Given the description of an element on the screen output the (x, y) to click on. 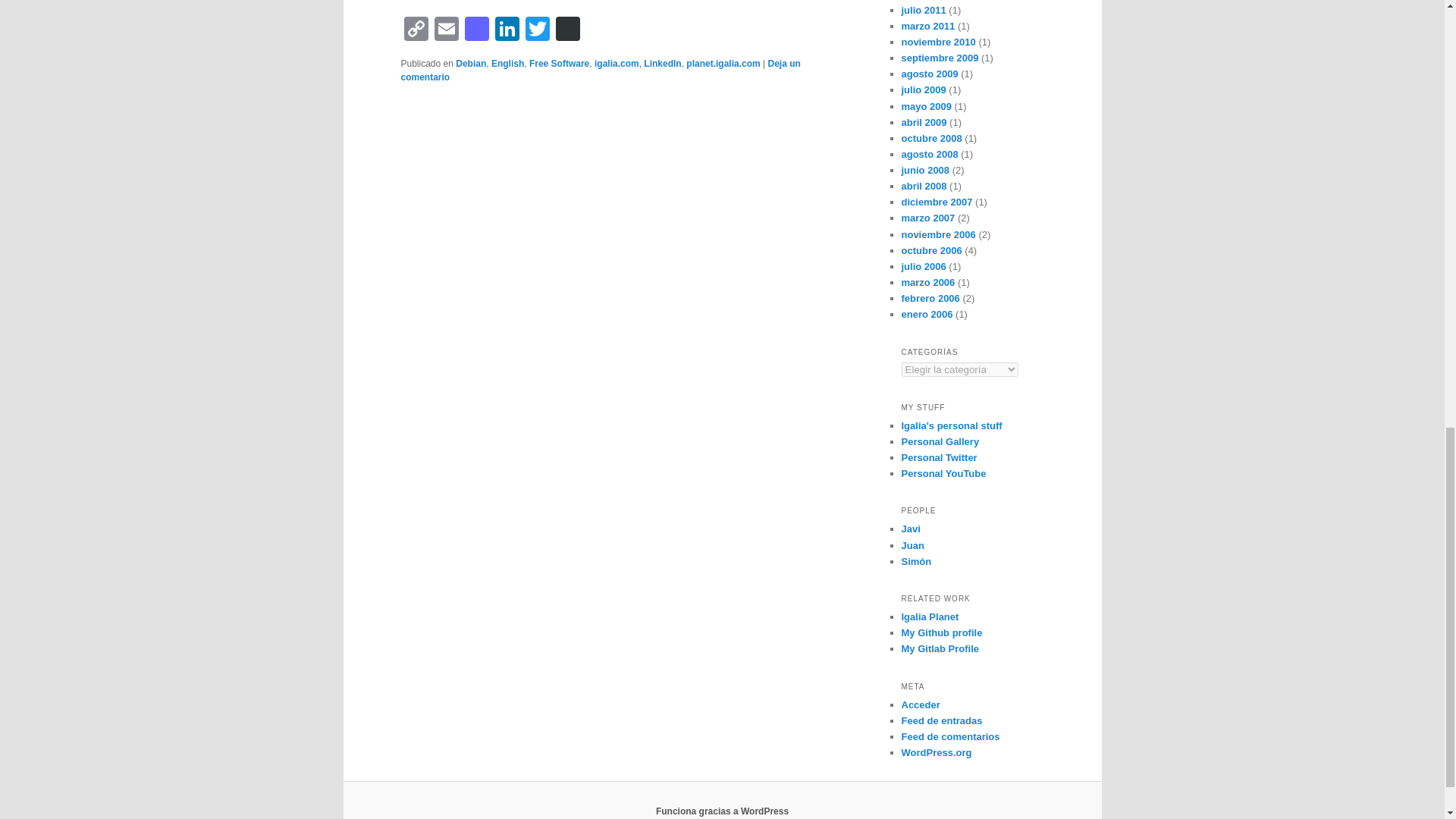
planet.igalia.com (722, 63)
LinkedIn (506, 30)
English (508, 63)
Diaspora (566, 30)
Diaspora (566, 30)
Copy Link (415, 30)
Free Software (559, 63)
LinkedIn (506, 30)
igalia.com (616, 63)
Mastodon (476, 30)
Deja un comentario (599, 70)
Debian (470, 63)
LinkedIn (662, 63)
Email (445, 30)
Mastodon (476, 30)
